Given the description of an element on the screen output the (x, y) to click on. 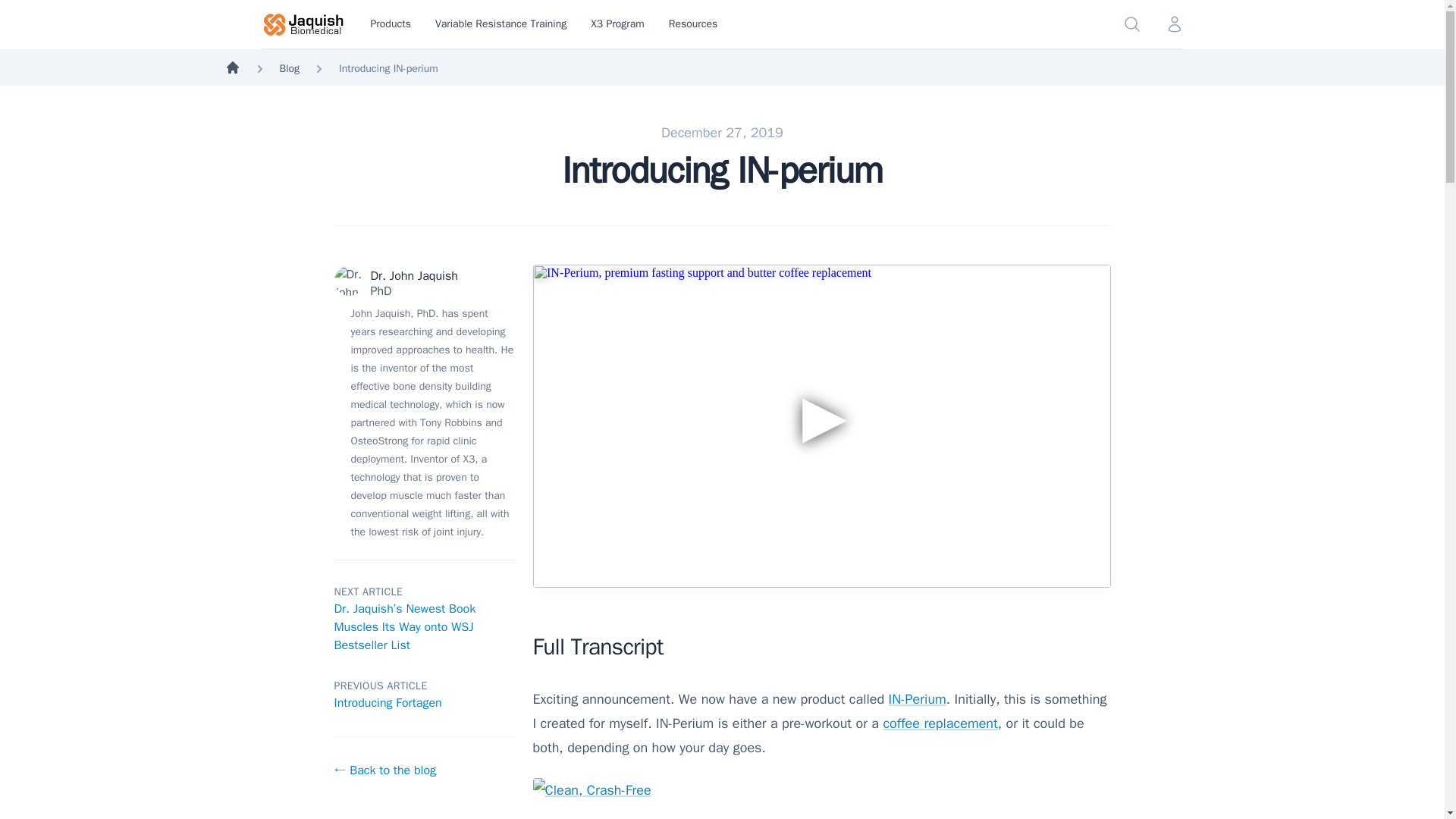
Full Transcript (820, 647)
